Given the description of an element on the screen output the (x, y) to click on. 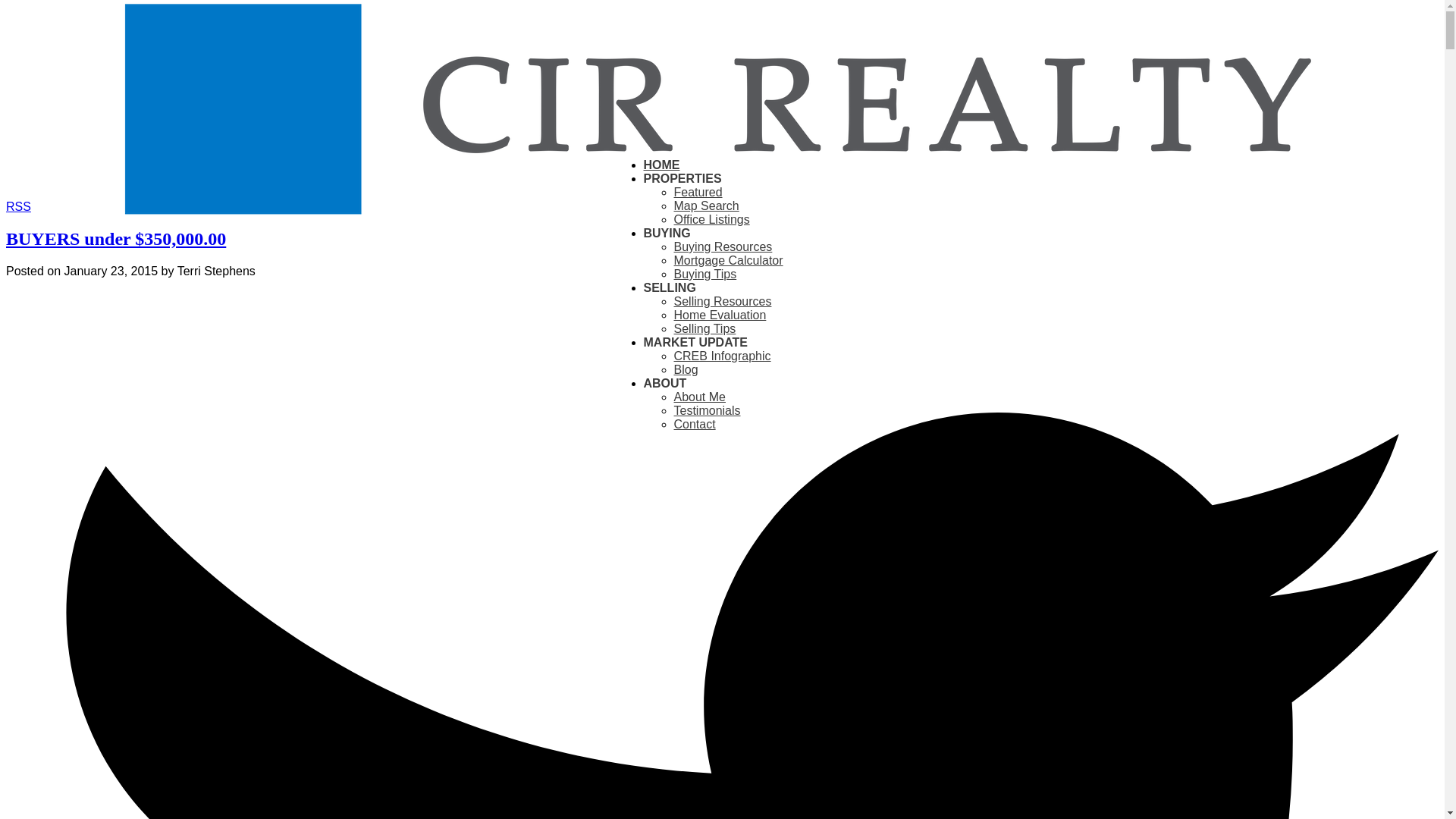
Buying Resources (721, 246)
Map Search (705, 205)
Home Evaluation (718, 314)
Selling Resources (721, 300)
Office Listings (710, 219)
Blog (684, 369)
CREB Infographic (721, 355)
About Me (698, 396)
Selling Tips (703, 328)
HOME (661, 165)
